Given the description of an element on the screen output the (x, y) to click on. 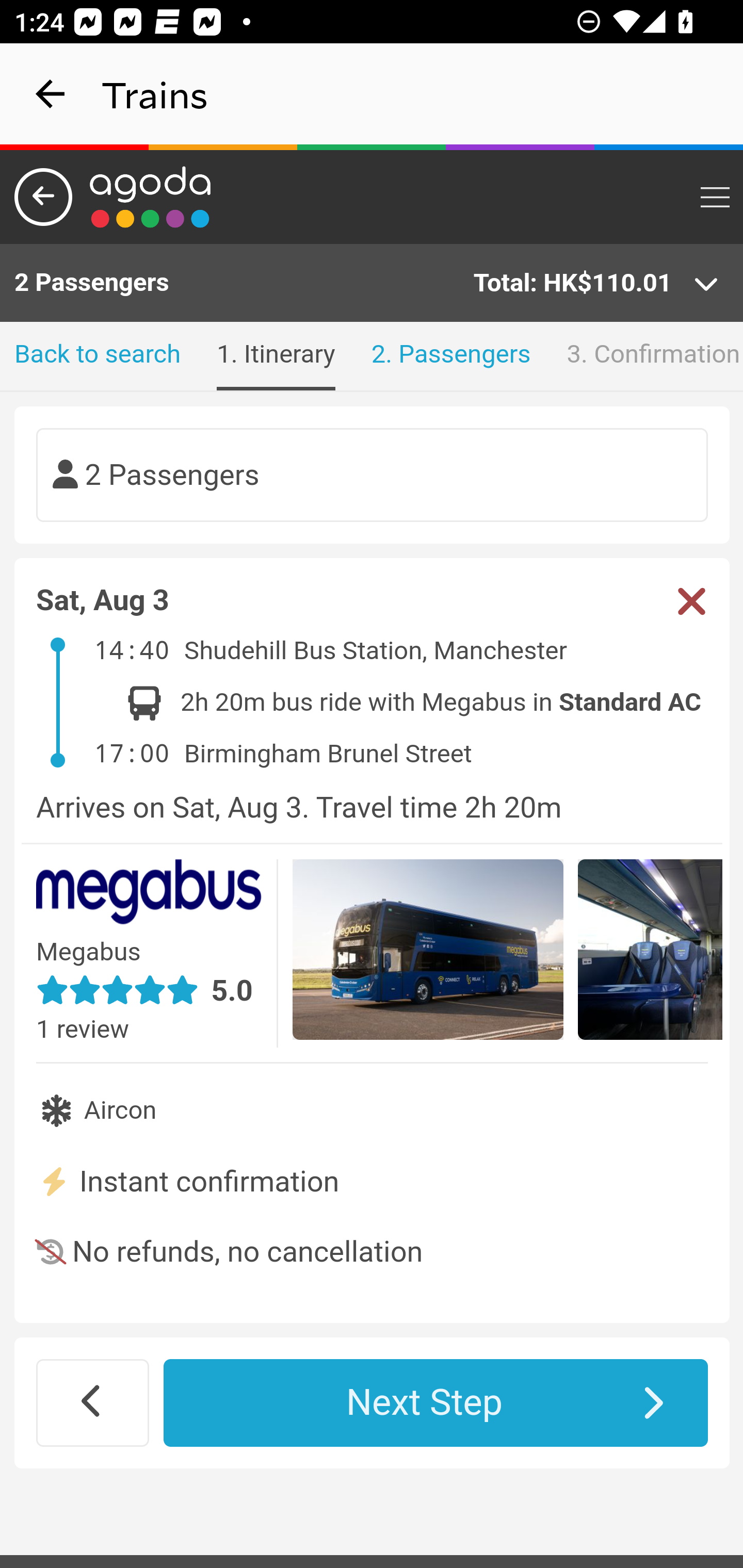
navigation_button (50, 93)
Link to main page 5418 (150, 197)
Total: HK$110.01 (596, 283)
Back to search (98, 355)
1. Itinerary (275, 355)
2. Passengers (450, 355)
 2 Passengers (372, 475)
Megabus Megabus    5.0 1 review (156, 952)
29-outside (427, 952)
Next Step (435, 1402)
